Given the description of an element on the screen output the (x, y) to click on. 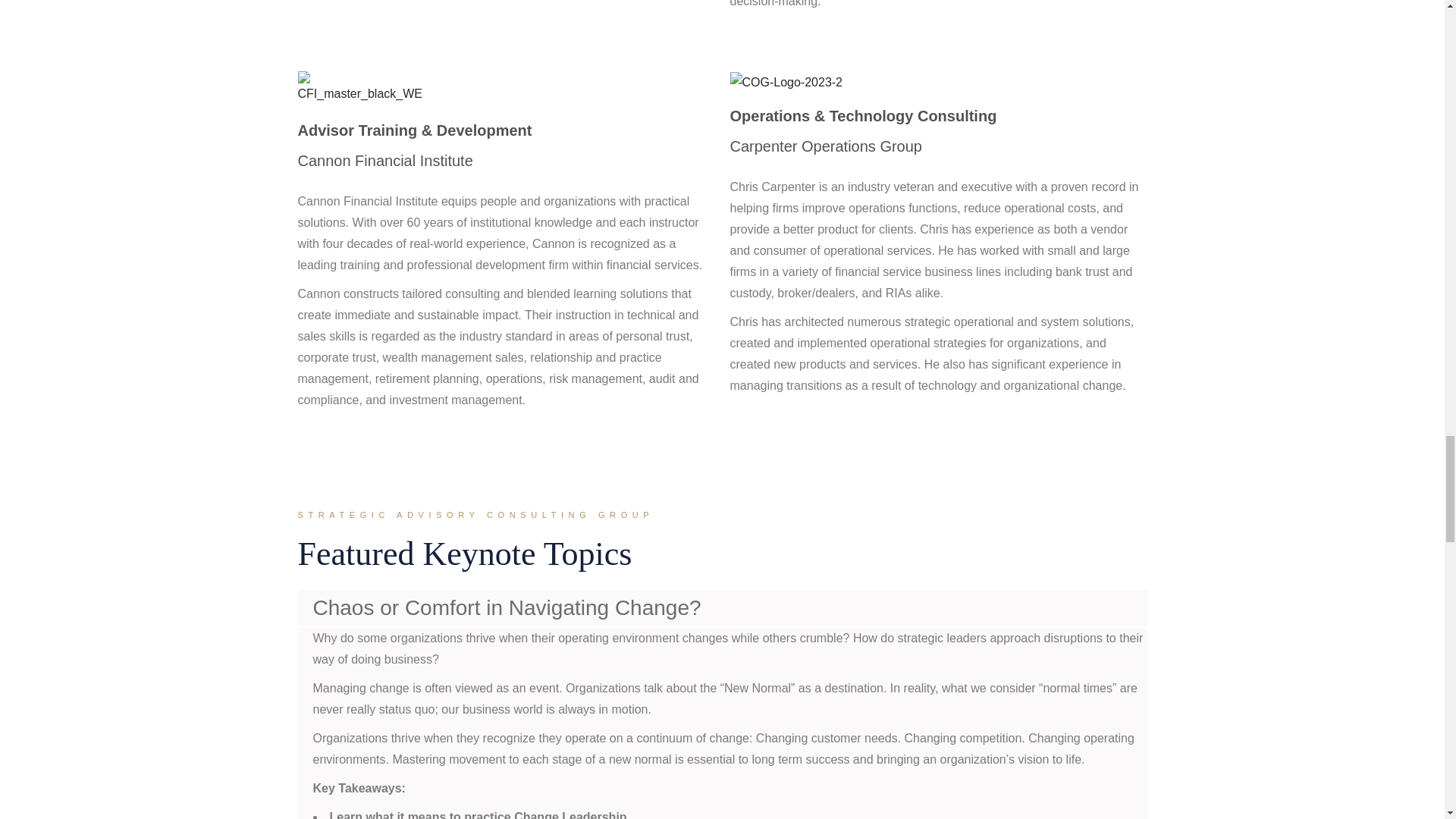
COG-Logo-2023-2 (786, 82)
